Given the description of an element on the screen output the (x, y) to click on. 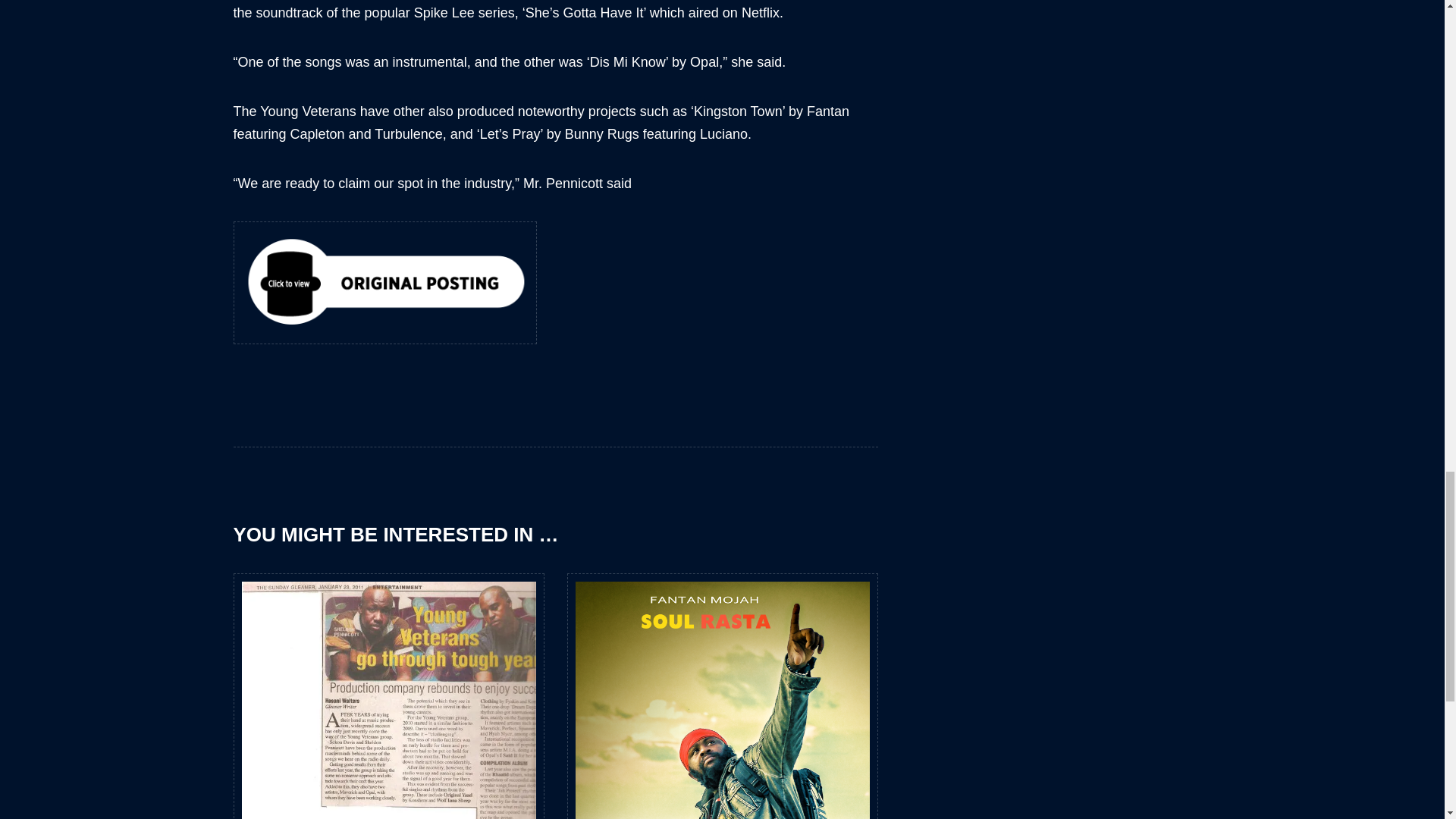
CD FRONT COVER (722, 727)
